Given the description of an element on the screen output the (x, y) to click on. 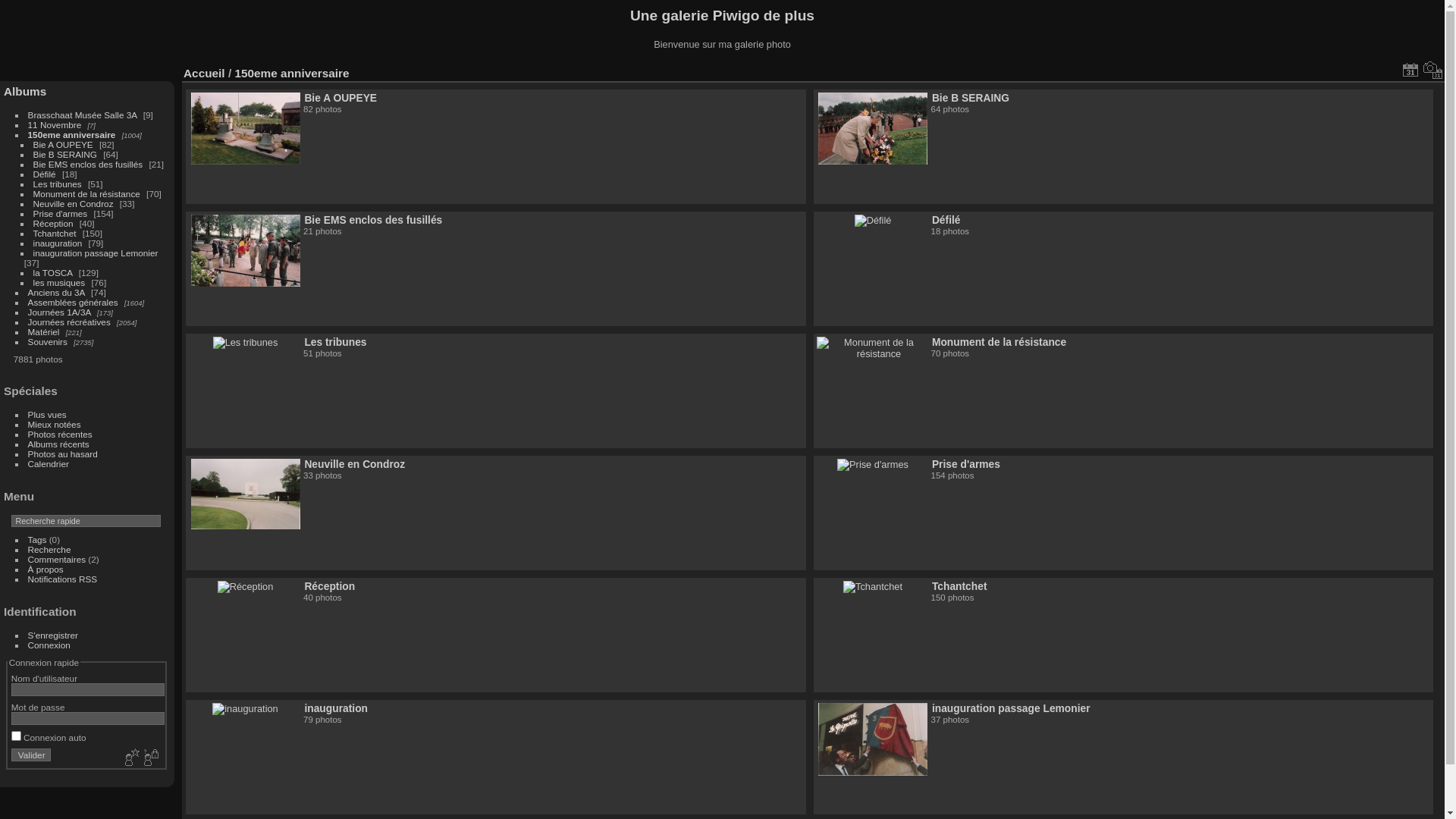
la TOSCA Element type: text (52, 272)
Connexion Element type: text (49, 644)
Commentaires Element type: text (57, 559)
150eme anniversaire Element type: text (72, 134)
Prise d'armes Element type: text (60, 213)
Bie A OUPEYE Element type: text (63, 144)
Bie B SERAING Element type: text (65, 154)
afficher un calendrier par date d'ajout Element type: hover (1410, 69)
les musiques Element type: text (59, 282)
Tags Element type: text (37, 539)
inauguration passage Lemonier Element type: text (1010, 708)
Calendrier Element type: text (48, 463)
Recherche Element type: text (49, 549)
Anciens du 3A Element type: text (56, 292)
Neuville en Condroz Element type: text (354, 464)
11 Novembre Element type: text (54, 124)
Prise d'armes Element type: text (965, 464)
Tchantchet Element type: text (54, 233)
Albums Element type: text (24, 90)
150eme anniversaire Element type: text (291, 72)
Souvenirs Element type: text (47, 341)
inauguration Element type: text (335, 708)
Bie A OUPEYE Element type: text (340, 97)
inauguration Element type: text (57, 242)
Photos au hasard Element type: text (62, 453)
Plus vues Element type: text (47, 414)
Les tribunes Element type: text (335, 341)
Neuville en Condroz Element type: text (73, 203)
Accueil Element type: text (204, 72)
S'enregistrer Element type: text (53, 635)
Valider Element type: text (30, 754)
Les tribunes Element type: text (57, 183)
Notifications RSS Element type: text (62, 578)
Bie B SERAING Element type: text (970, 97)
Tchantchet Element type: text (959, 586)
inauguration passage Lemonier Element type: text (95, 252)
